Given the description of an element on the screen output the (x, y) to click on. 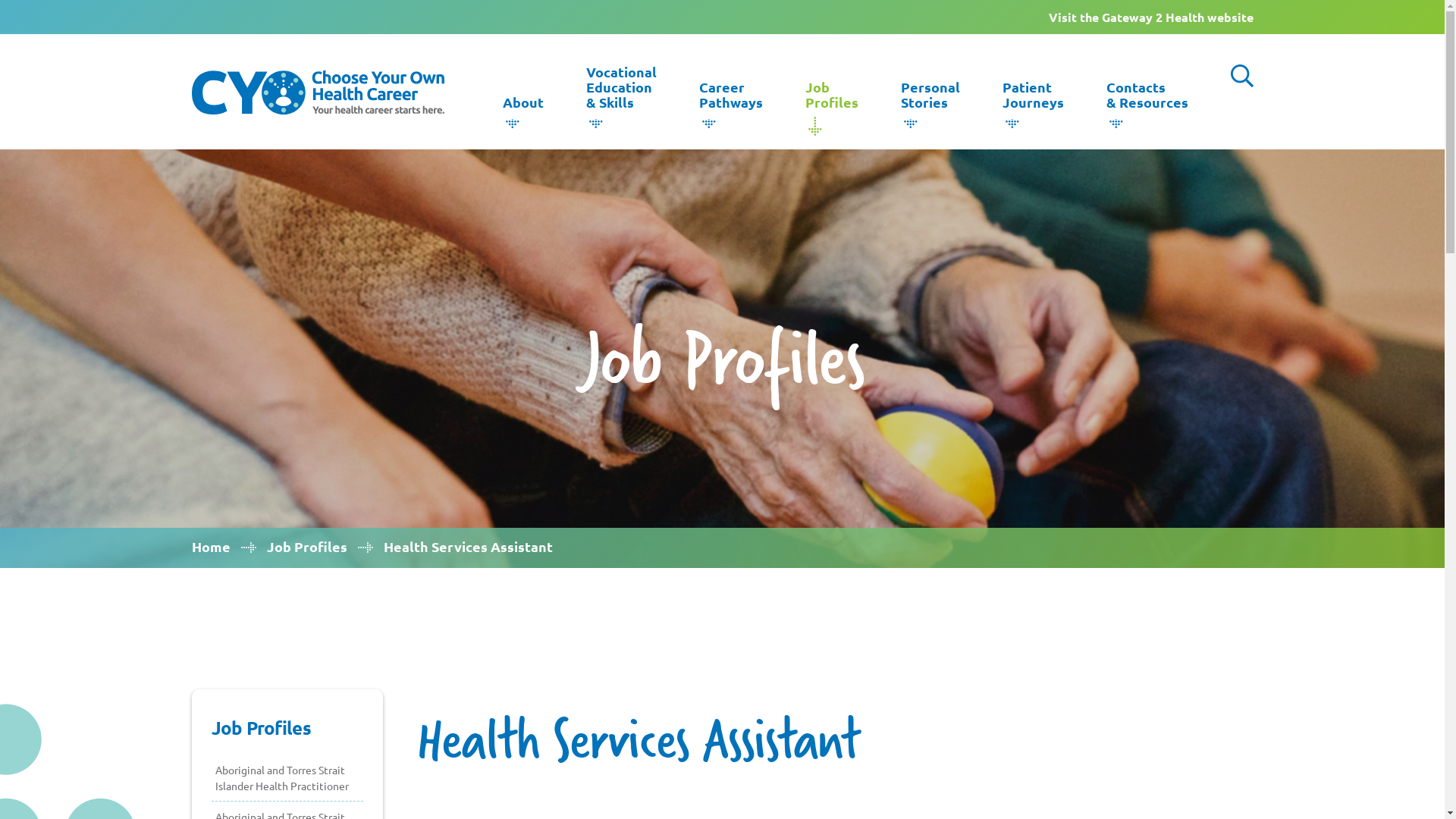
Career
Pathways Element type: text (730, 99)
Contacts
& Resources Element type: text (1146, 99)
Aboriginal and Torres Strait Islander Health Practitioner Element type: text (286, 777)
Vocational
Education
& Skills Element type: text (620, 91)
Job
Profiles Element type: text (831, 99)
Job Profiles Element type: text (306, 546)
About Element type: text (522, 106)
Personal
Stories Element type: text (930, 99)
Visit the Gateway 2 Health website Element type: text (1150, 17)
Home Element type: text (210, 546)
Patient
Journeys Element type: text (1032, 99)
